Given the description of an element on the screen output the (x, y) to click on. 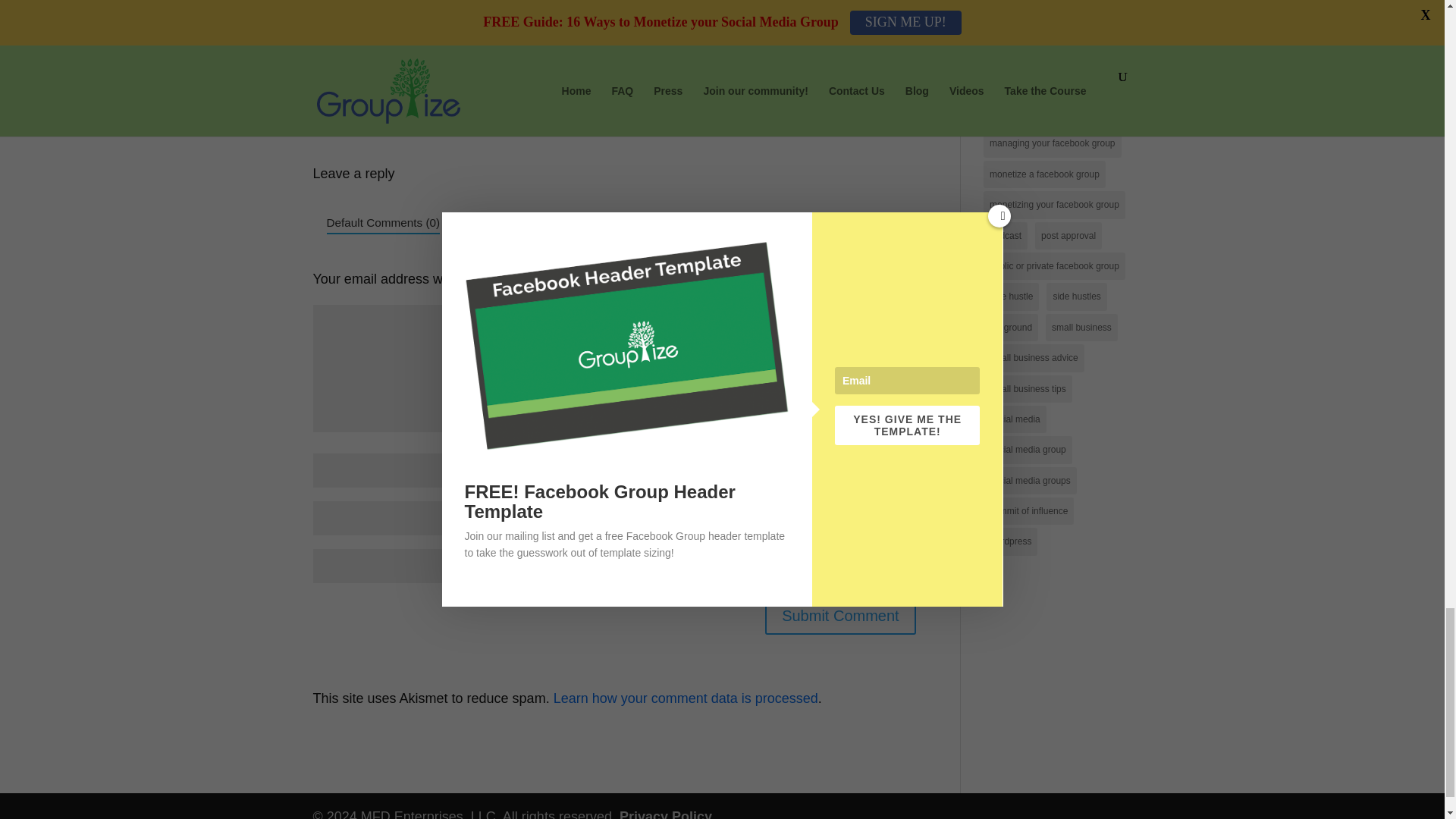
Learn how your comment data is processed (685, 698)
Submit Comment (840, 615)
Submit Comment (840, 615)
